Given the description of an element on the screen output the (x, y) to click on. 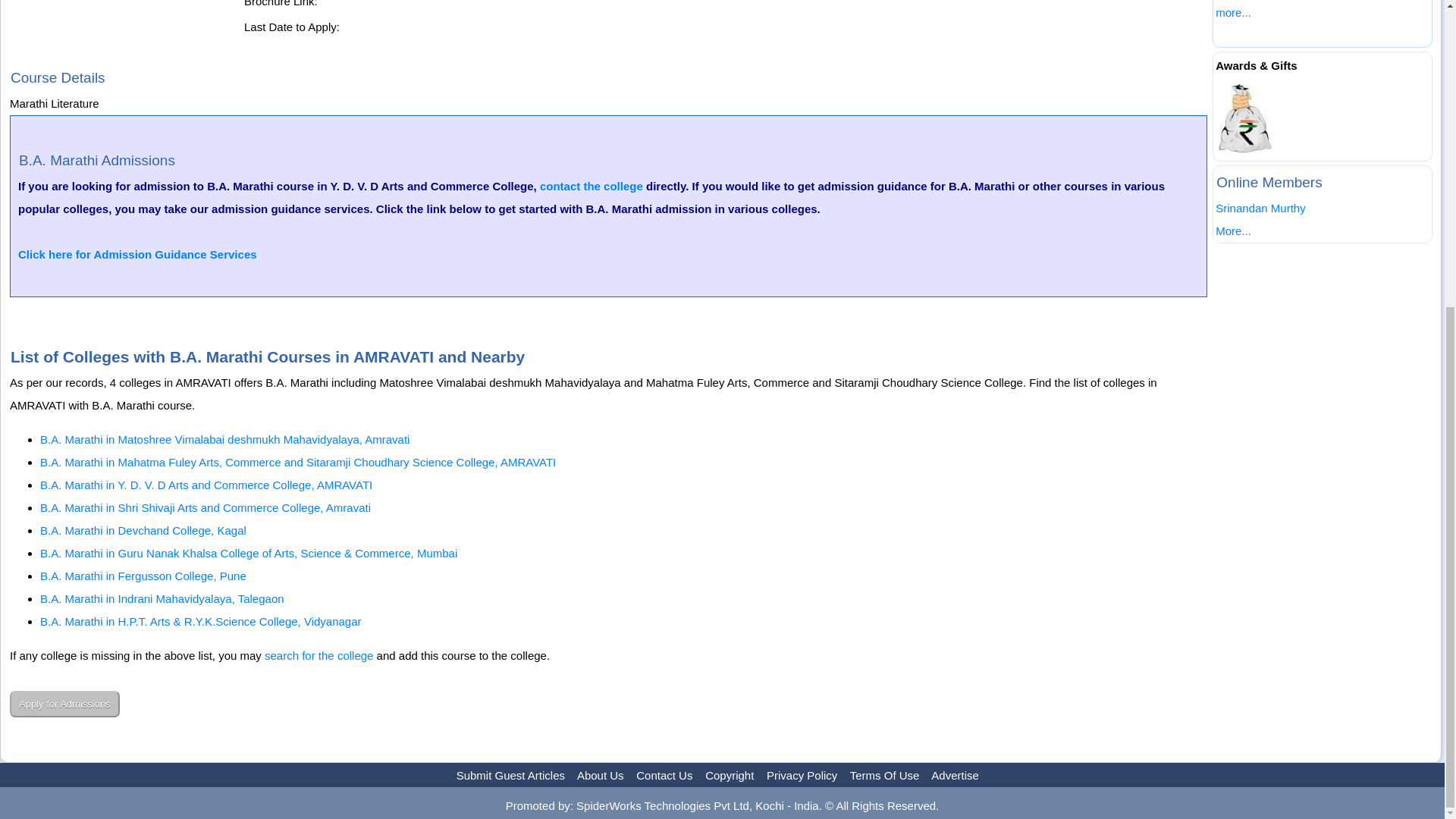
B.A. Marathi in Devchand College, Kagal (143, 530)
B.A. Marathi in Fergusson College, Pune (143, 575)
B.A. Marathi in Indrani Mahavidyalaya, Talegaon (161, 598)
Apply for Admissions (64, 704)
contact the college (591, 185)
Click here for Admission Guidance Services (137, 254)
